Given the description of an element on the screen output the (x, y) to click on. 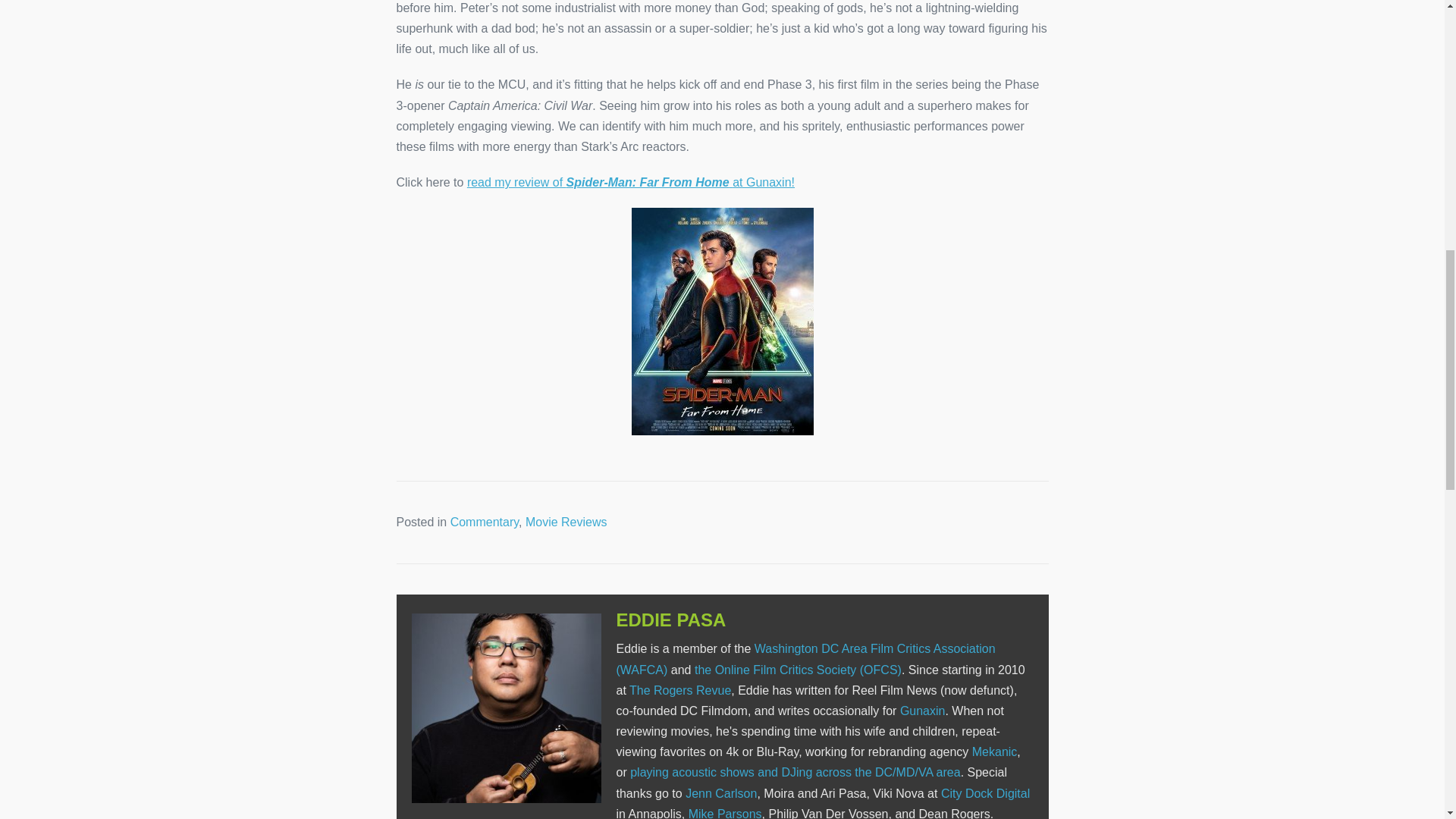
Commentary (483, 521)
Movie Reviews (566, 521)
Gunaxin (921, 710)
City Dock Digital (984, 793)
read my review of Spider-Man: Far From Home at Gunaxin! (630, 182)
Mekanic (994, 751)
Jenn Carlson (721, 793)
Mike Parsons (724, 813)
The Rogers Revue (679, 689)
